Given the description of an element on the screen output the (x, y) to click on. 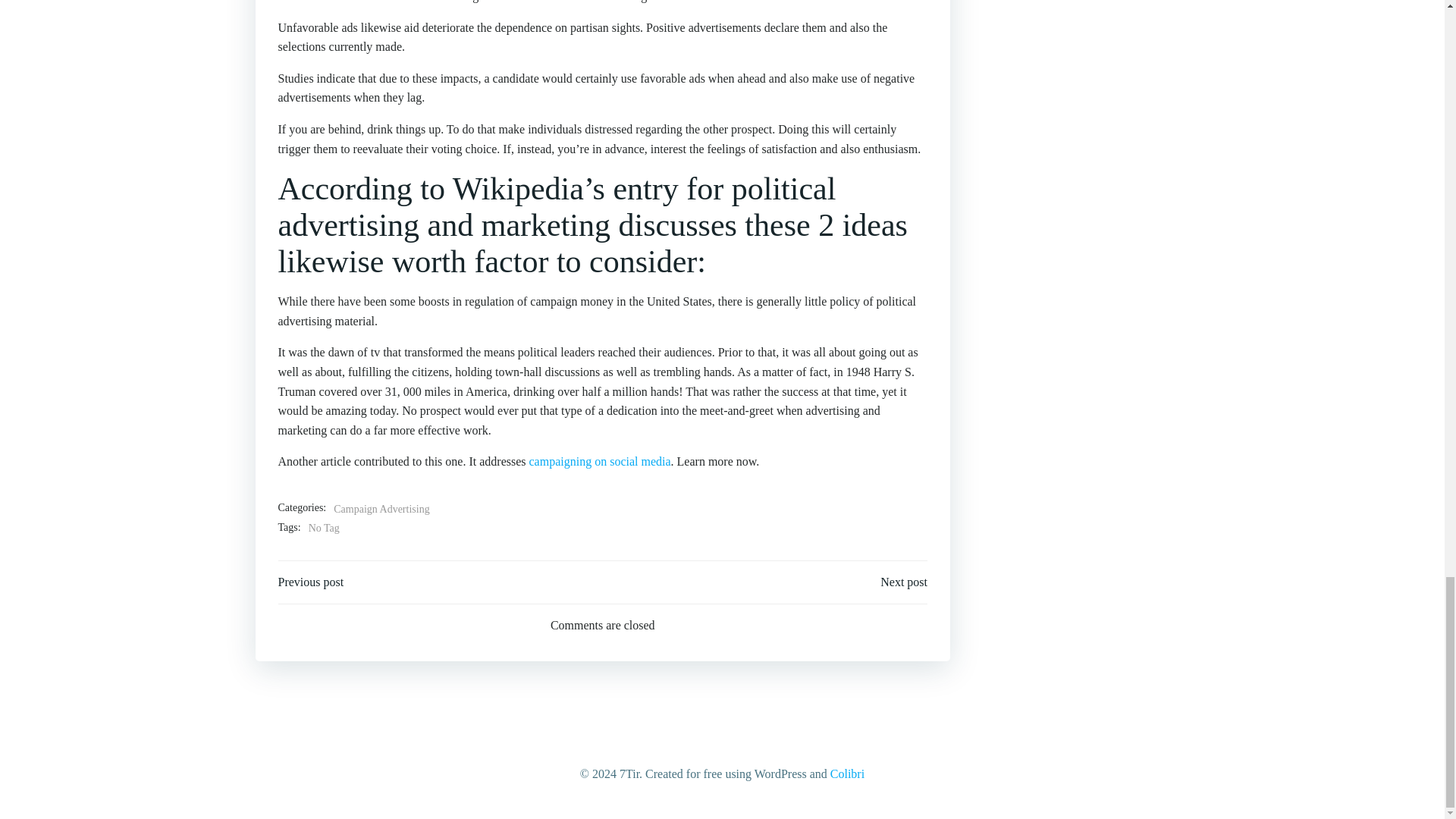
campaigning on social media (600, 461)
Next post (903, 582)
Campaign Advertising (381, 509)
Previous post (310, 582)
Colibri (846, 773)
